Given the description of an element on the screen output the (x, y) to click on. 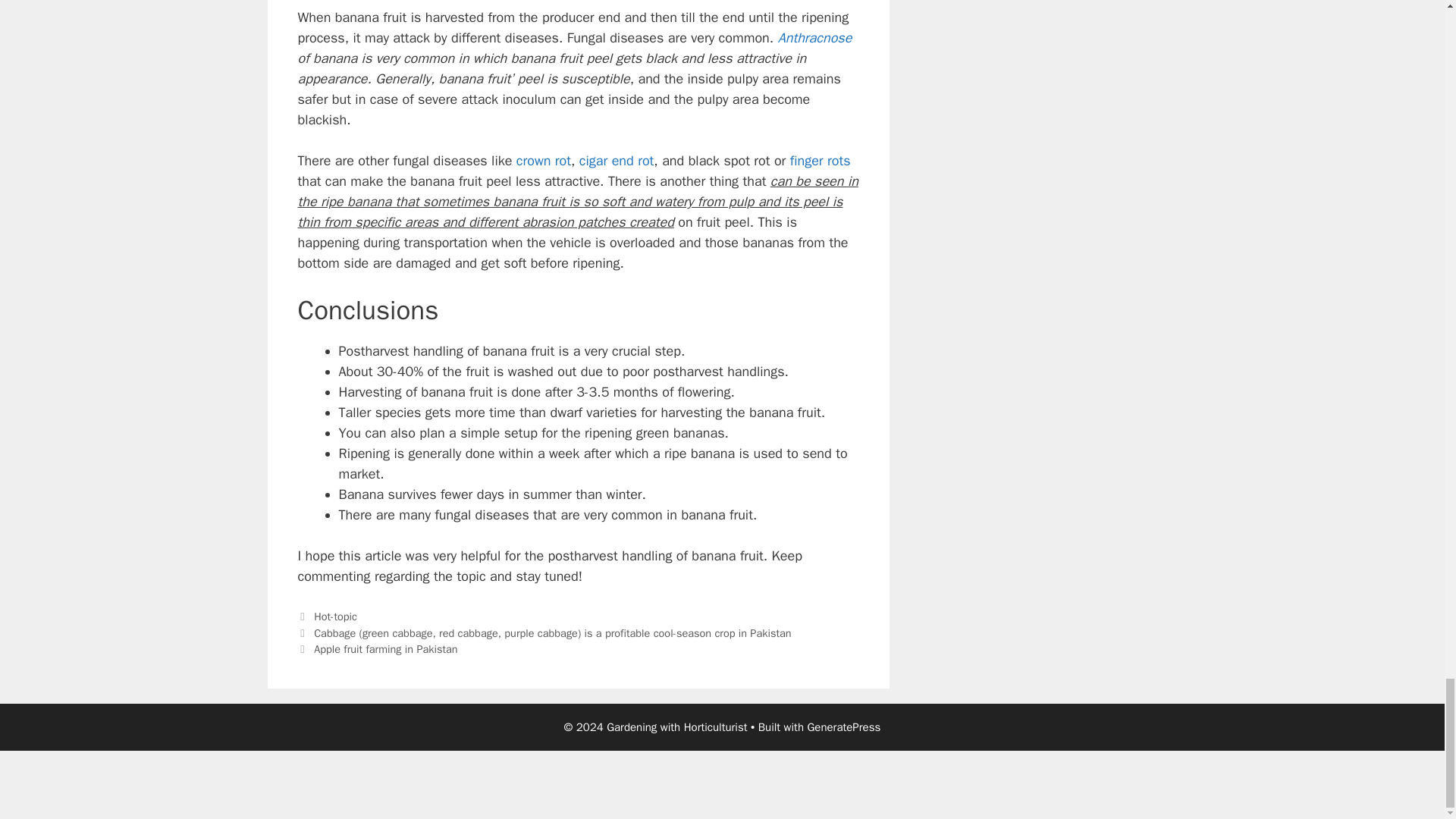
GeneratePress (843, 726)
cigar end rot (616, 160)
crown rot (543, 160)
Apple fruit farming in Pakistan (385, 649)
Anthracnose (814, 37)
Hot-topic (335, 616)
finger rots (820, 160)
